Given the description of an element on the screen output the (x, y) to click on. 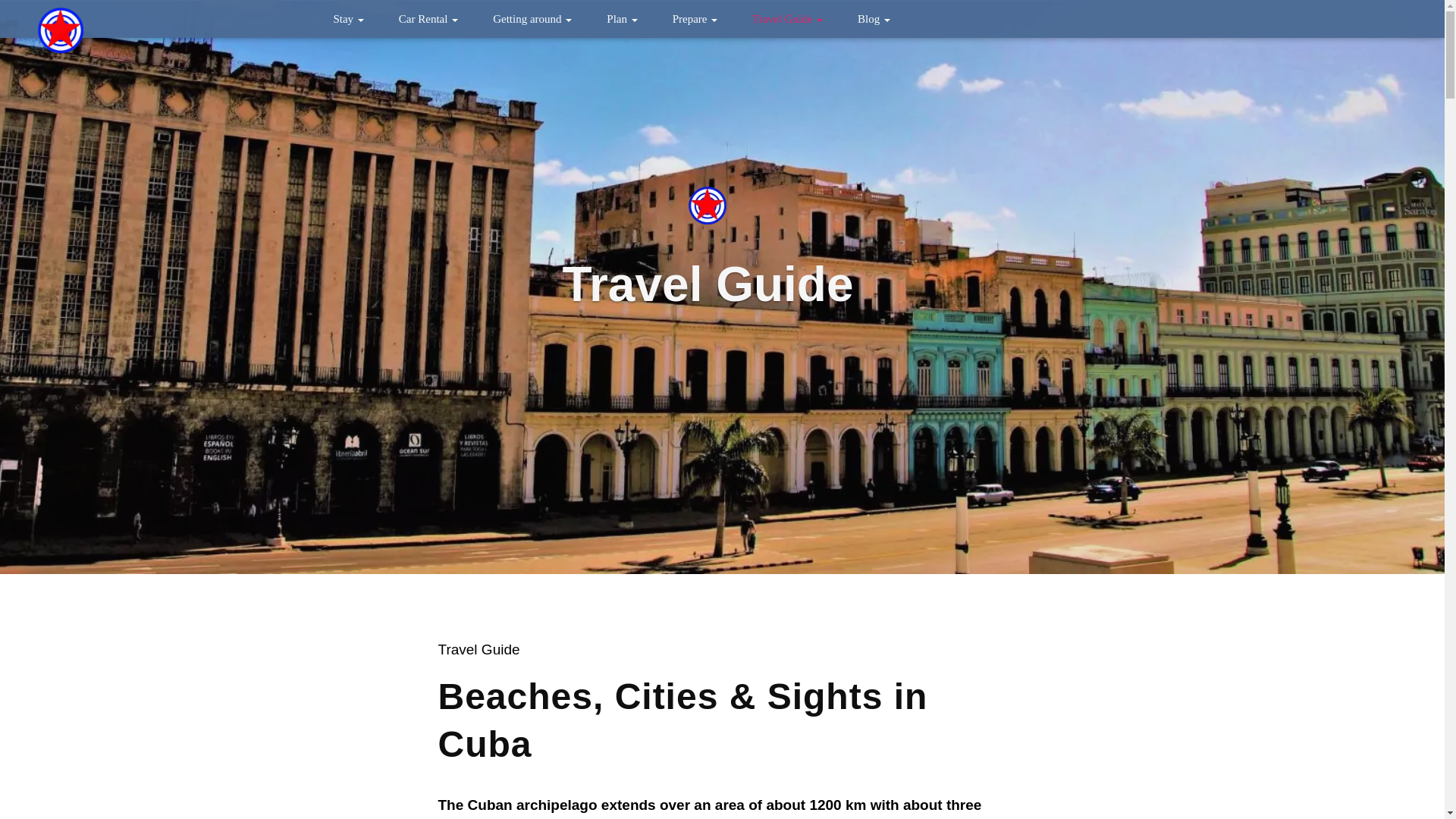
Car Rental (434, 18)
Stay (354, 18)
cubaify.com (60, 26)
Stay (354, 18)
Getting around (538, 18)
Car Rental (434, 18)
Plan (628, 18)
